Given the description of an element on the screen output the (x, y) to click on. 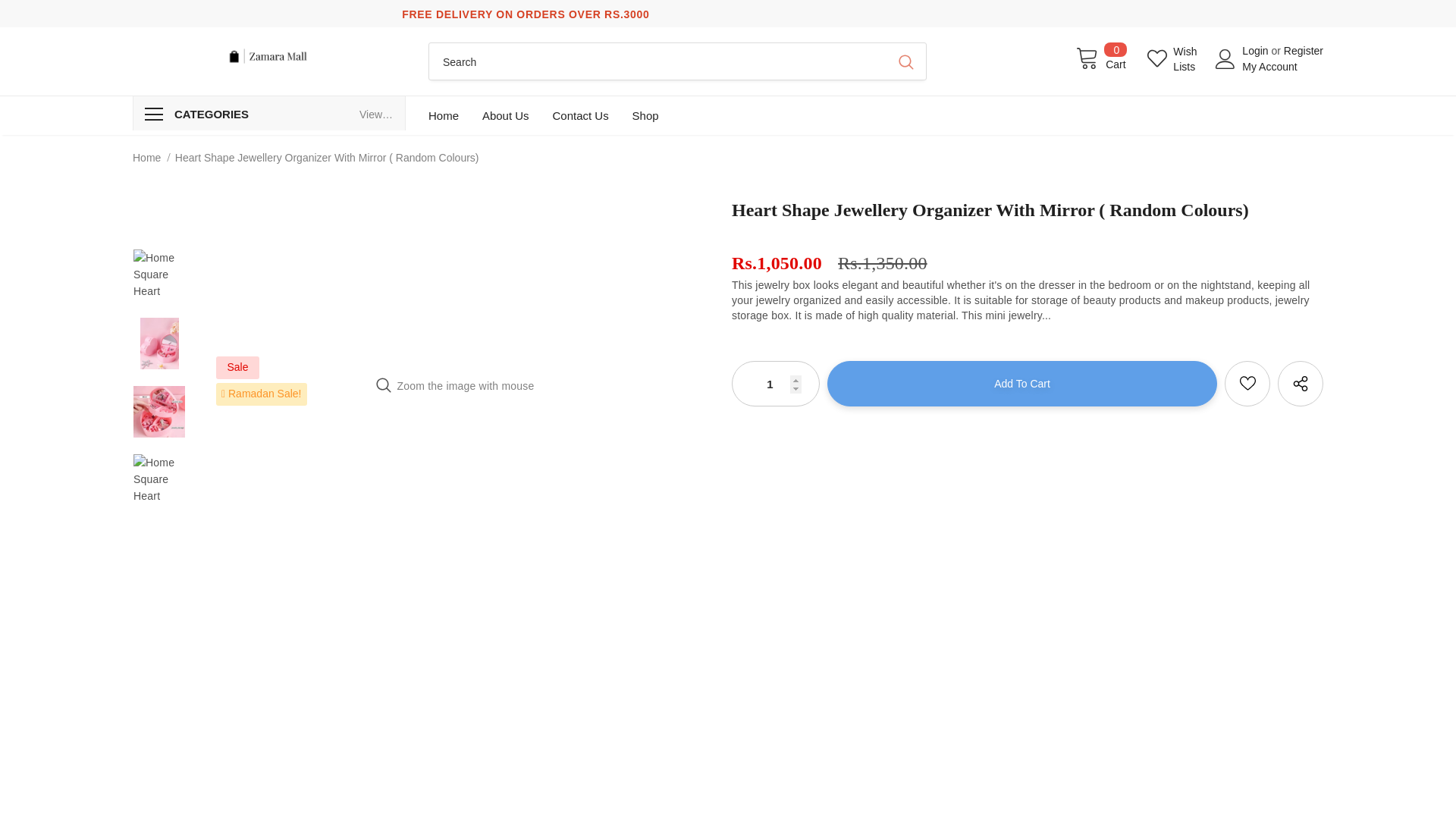
View All (376, 114)
Add to cart (1022, 383)
Logo (269, 55)
Login (1256, 50)
User Icon (1225, 57)
Cart (1100, 57)
View All (1100, 57)
Wish Lists (376, 114)
1 (1173, 57)
Register (775, 383)
My Account (1303, 50)
